Given the description of an element on the screen output the (x, y) to click on. 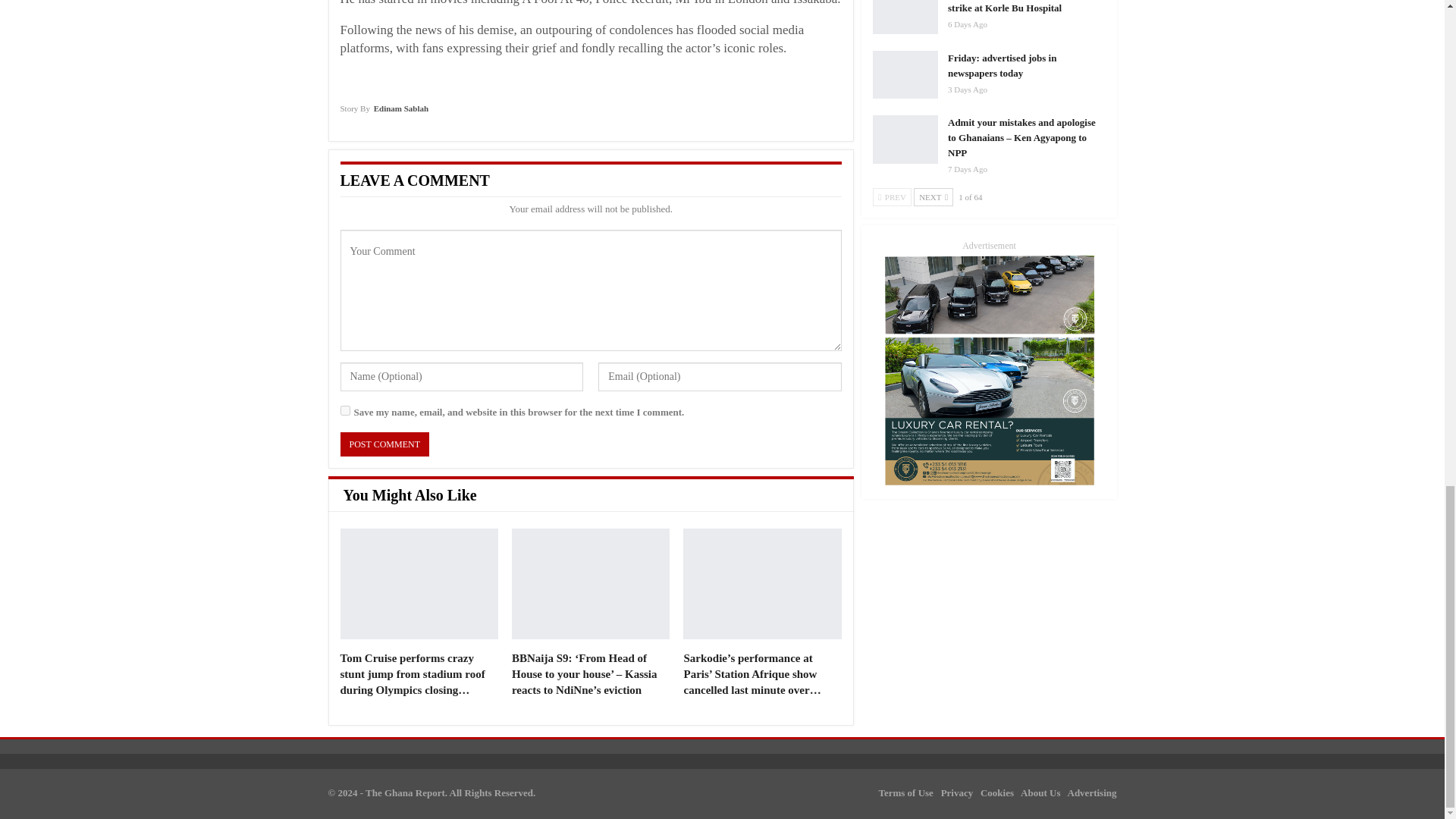
Story By Edinam Sablah (383, 113)
Post Comment (383, 444)
Post Comment (383, 444)
yes (344, 410)
Browse Author Articles (383, 113)
